Given the description of an element on the screen output the (x, y) to click on. 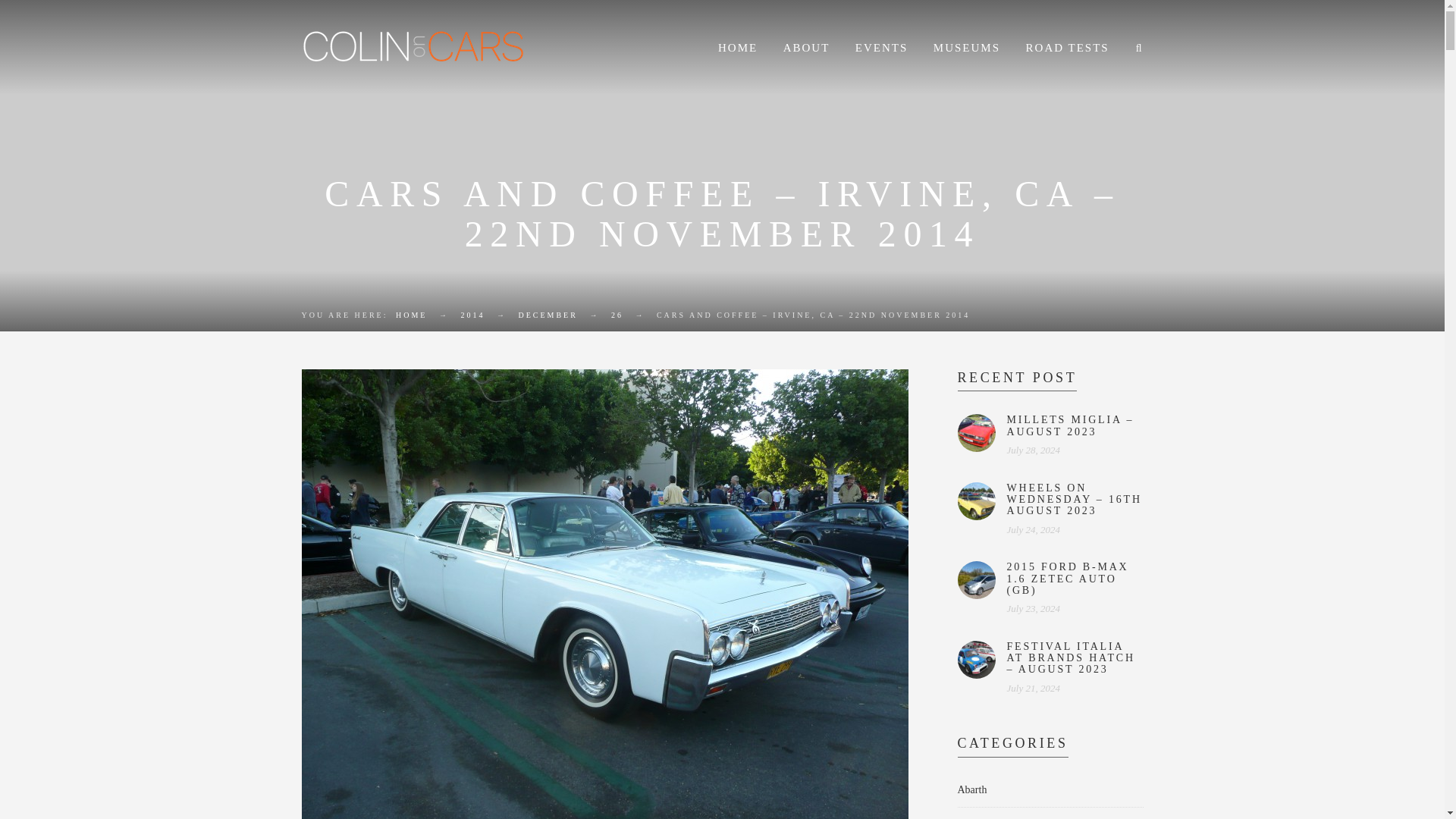
MUSEUMS (966, 48)
ABOUT (806, 48)
EVENTS (882, 48)
HOME (737, 48)
Colin On Cars (411, 315)
ROAD TESTS (1067, 48)
